Given the description of an element on the screen output the (x, y) to click on. 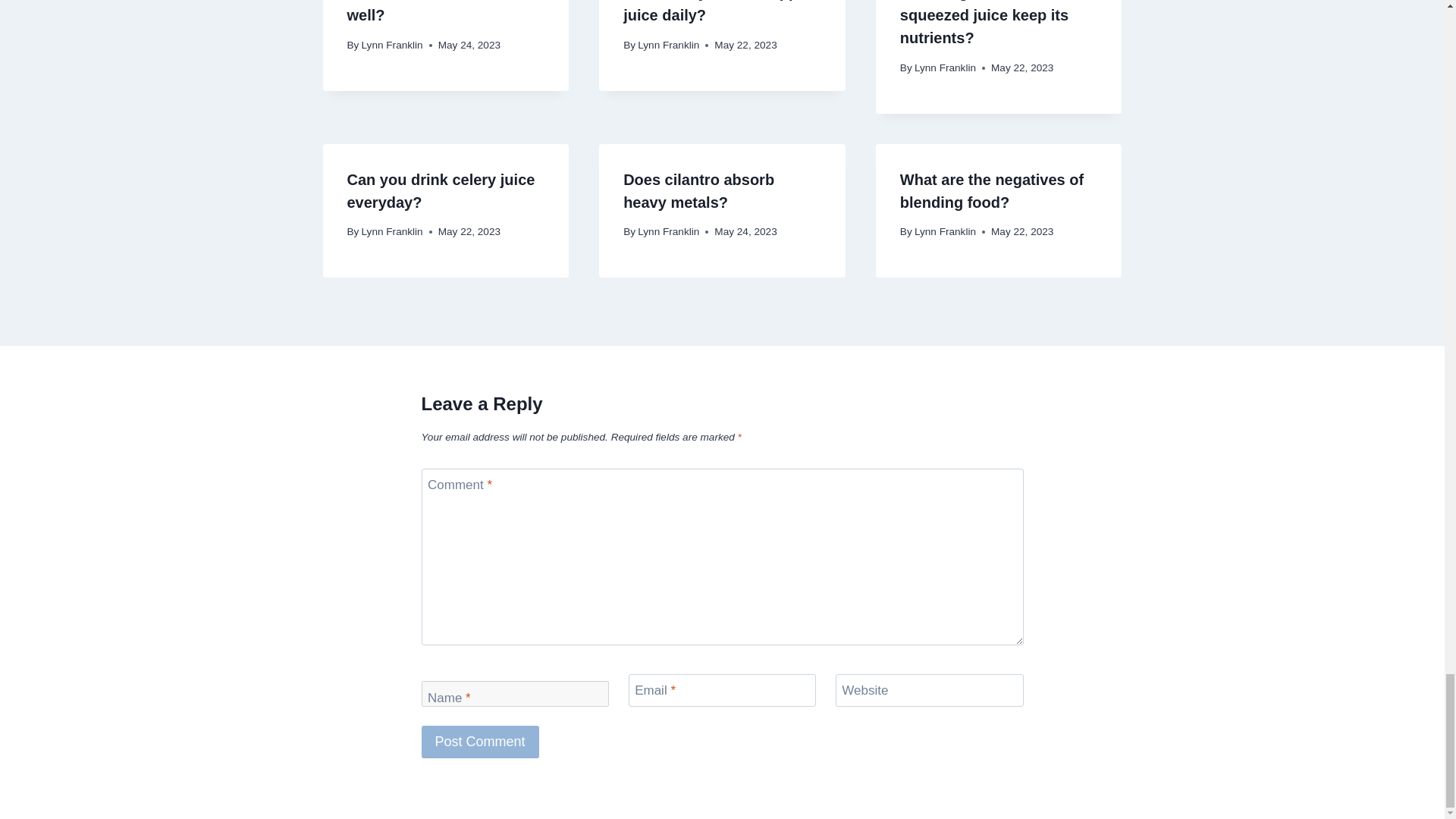
Lynn Franklin (392, 44)
How long does fresh squeezed juice keep its nutrients? (983, 22)
Lynn Franklin (944, 67)
Lynn Franklin (667, 44)
Can you drink celery juice everyday? (441, 190)
Post Comment (480, 741)
Is it healthy to drink apple juice daily? (716, 11)
Lynn Franklin (392, 231)
Do lemon slices freeze well? (429, 11)
